Given the description of an element on the screen output the (x, y) to click on. 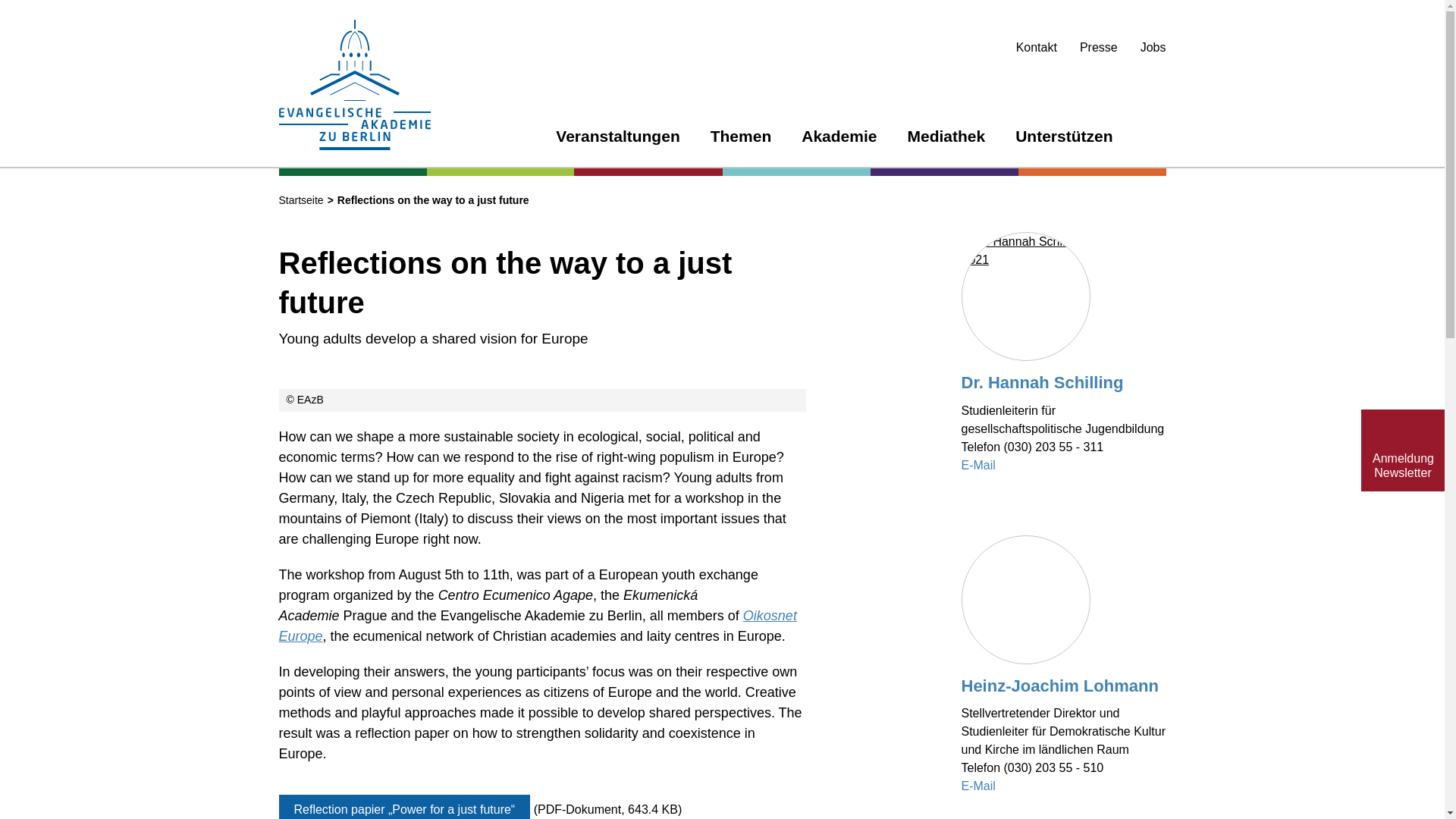
interner Link: Heinz-Joachim Lohmann (1059, 685)
Oikosnet Europe (537, 625)
Kontakt (1036, 47)
Suche (1157, 138)
Veranstaltungen (617, 140)
Jobs (1153, 47)
interner Link: Startseite (301, 200)
interner Link: Dr. Hannah Schilling (1024, 249)
EAzB (541, 400)
Startseite (301, 200)
interner Link: Startseite (354, 87)
interner Link: Kontakt (1036, 47)
interner Link: Presse (1099, 47)
Akademie (838, 140)
interner Link: Dr. Hannah Schilling (1042, 382)
